Given the description of an element on the screen output the (x, y) to click on. 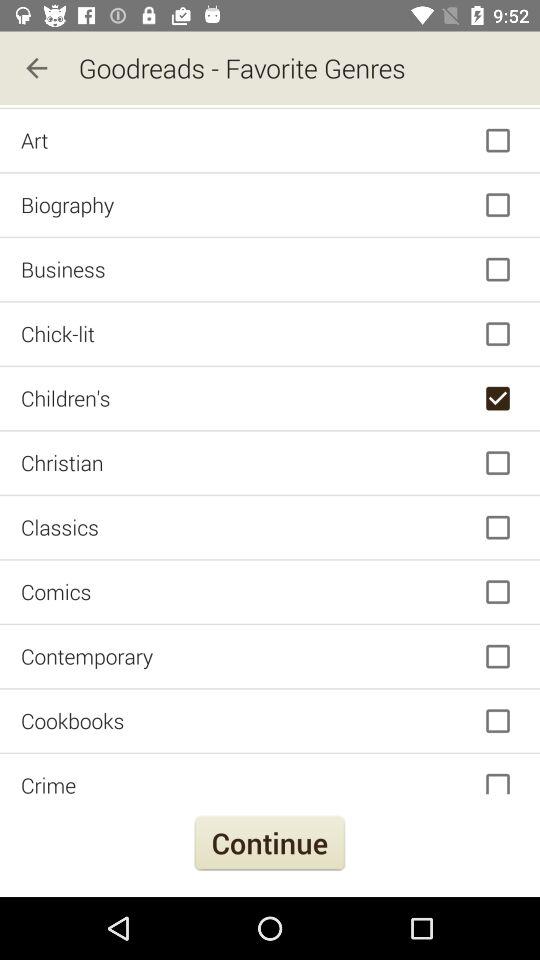
select the item below comics (270, 656)
